Given the description of an element on the screen output the (x, y) to click on. 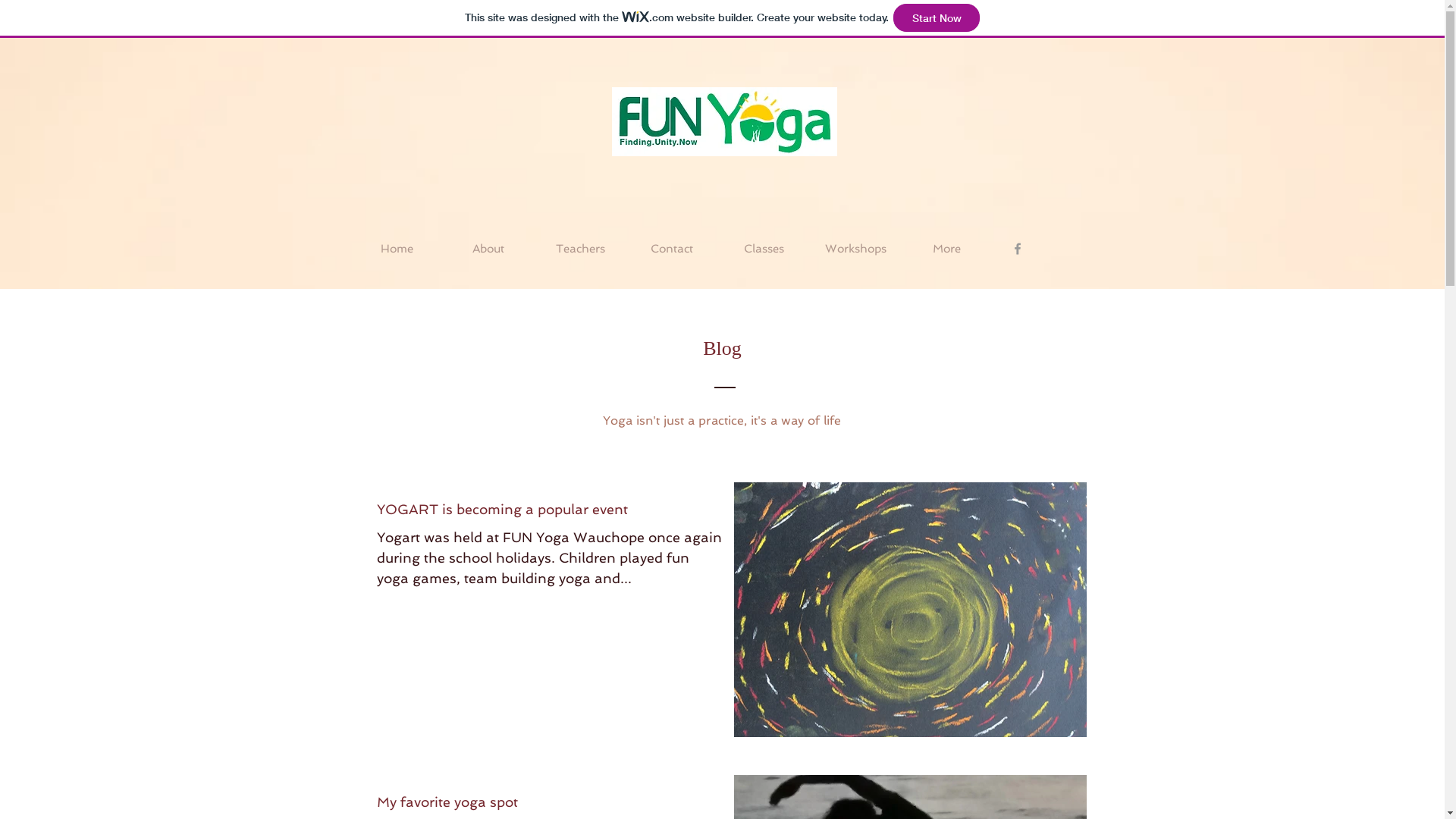
Workshops Element type: text (855, 248)
Home Element type: text (396, 248)
YOGART is becoming a popular event Element type: text (549, 513)
Classes Element type: text (763, 248)
Teachers Element type: text (579, 248)
Contact Element type: text (672, 248)
About Element type: text (488, 248)
